Given the description of an element on the screen output the (x, y) to click on. 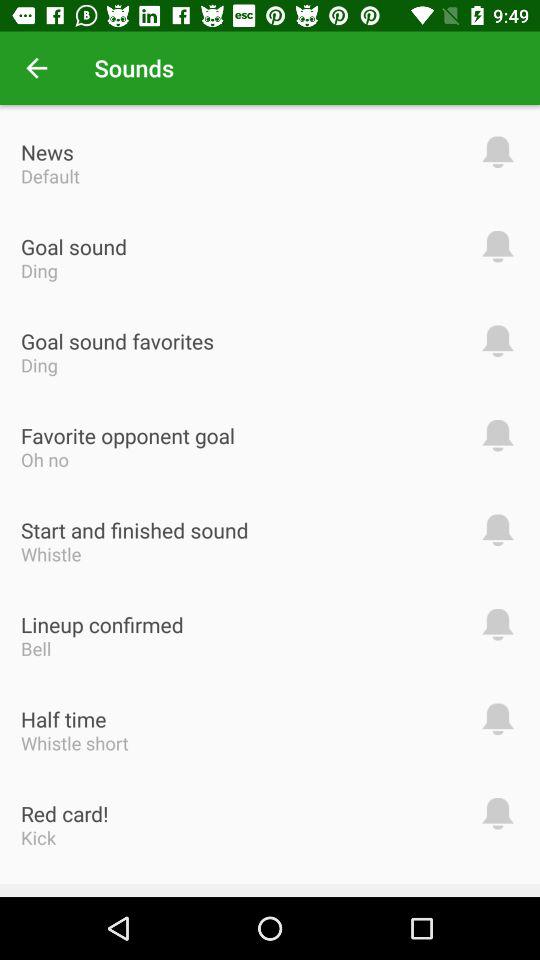
open the item next to sounds (36, 68)
